Given the description of an element on the screen output the (x, y) to click on. 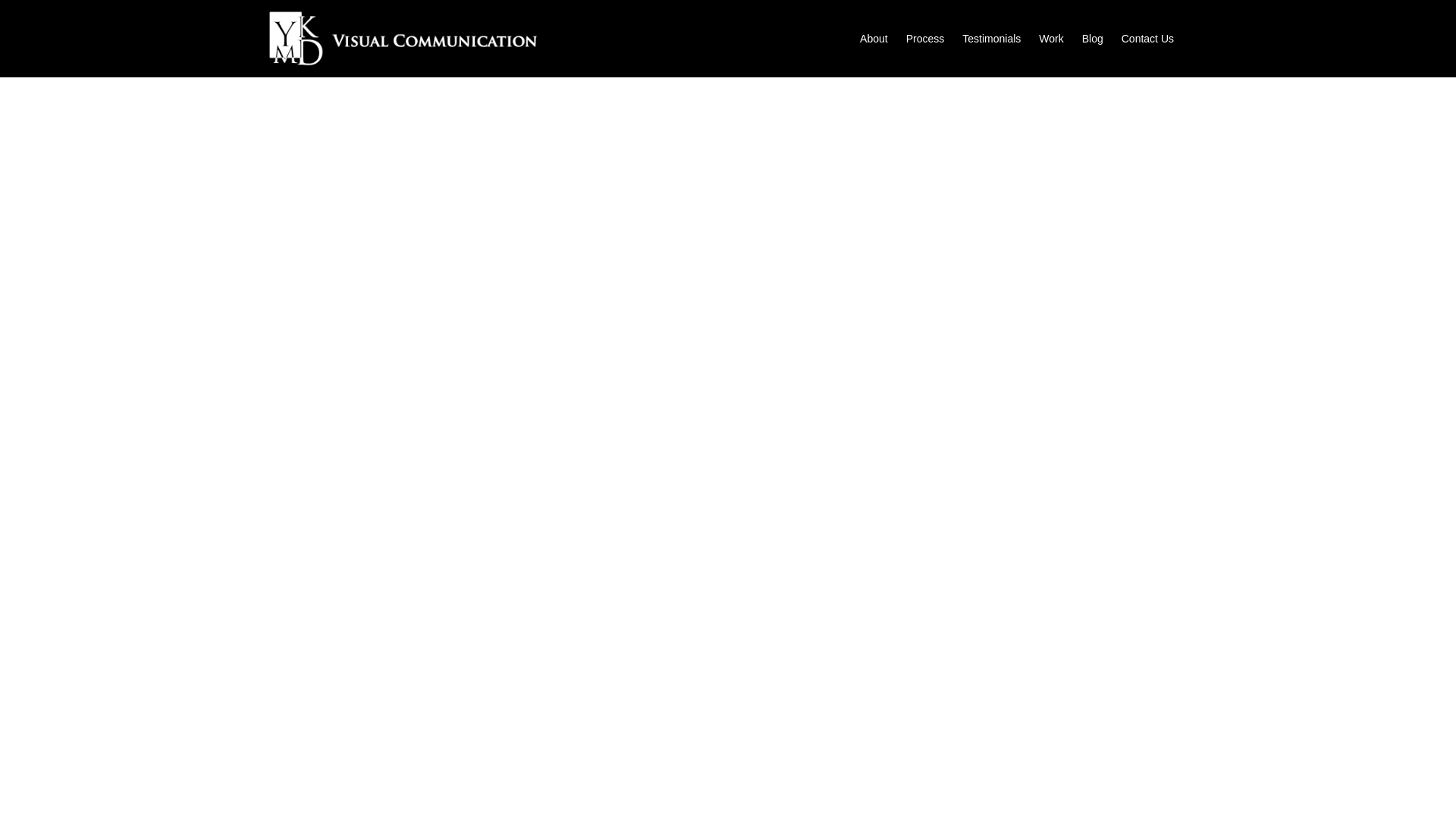
Work (1050, 38)
Blog (1092, 38)
Process (924, 38)
About (873, 38)
Testimonials (991, 38)
Contact Us (1147, 38)
